Given the description of an element on the screen output the (x, y) to click on. 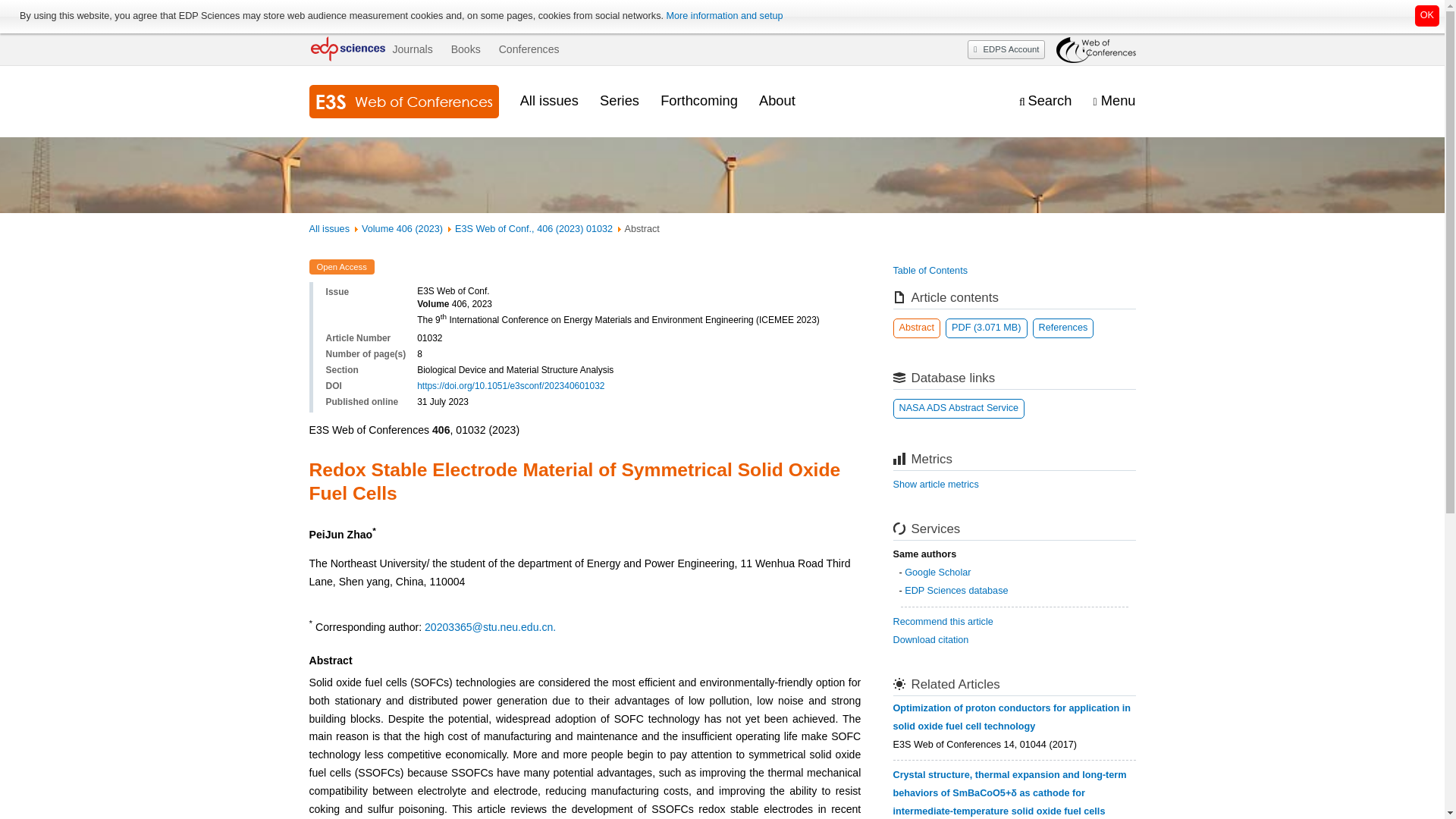
OK (1427, 15)
Abstract (916, 328)
Books (465, 49)
Conferences (529, 49)
Journal homepage (403, 101)
Display the search engine (1045, 101)
More information and setup (724, 15)
Journals (411, 49)
Click to close this notification (1427, 15)
